Given the description of an element on the screen output the (x, y) to click on. 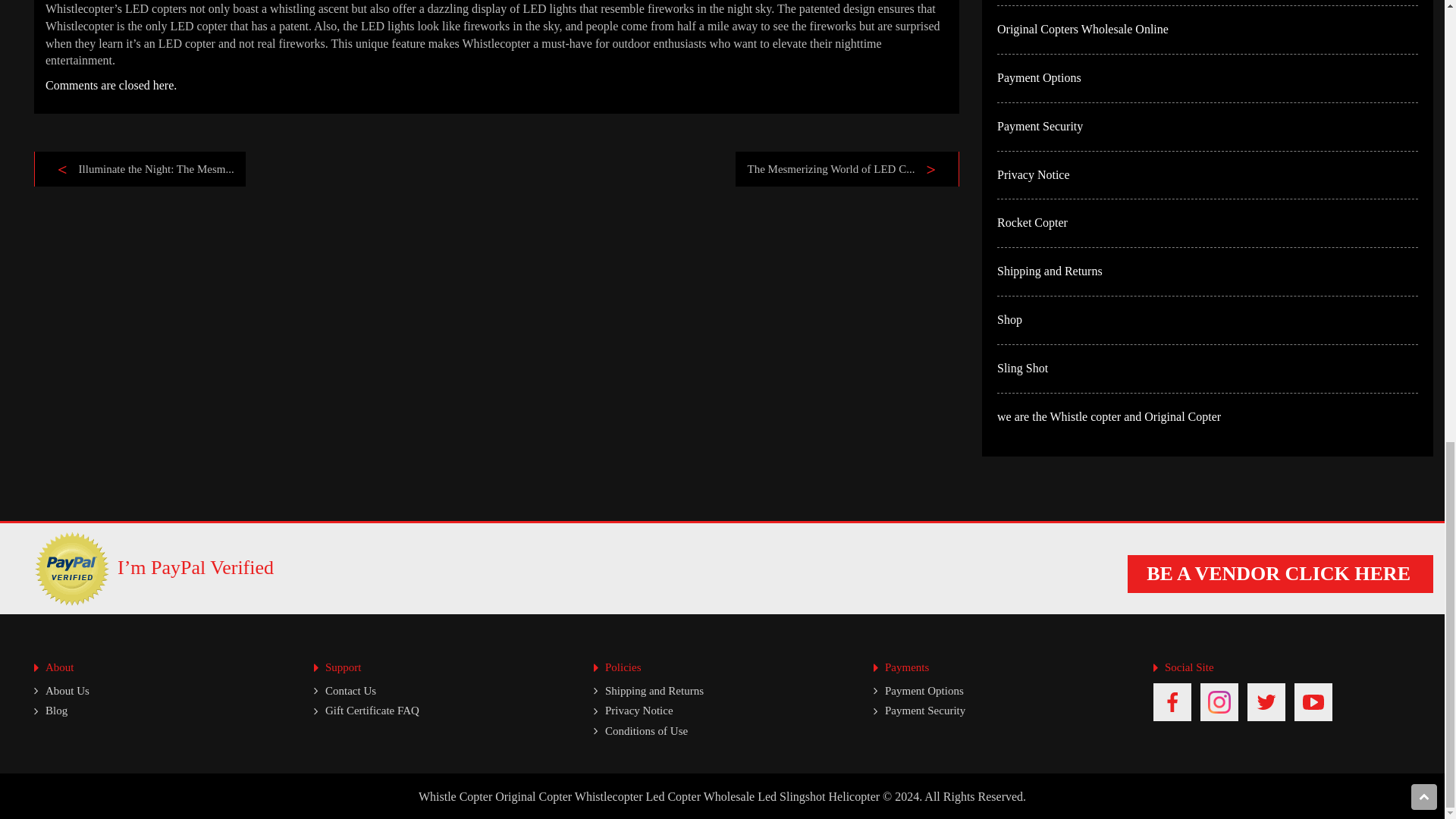
we are the Whistle copter and Original Copter (1109, 416)
Payment Security (1040, 125)
Privacy Notice (1033, 173)
go to top (1423, 796)
Payment Options (1039, 77)
Shipping and Returns (1049, 270)
Offical Whistlecopter twitter (1266, 702)
Offical Whistlecopter youtube (1312, 702)
Offical Whistlecopter facebook (1171, 702)
BE A VENDOR CLICK HERE (1279, 573)
Rocket Copter (1032, 222)
About (59, 666)
offical Whistlecopter instagram (1219, 702)
Sling Shot (1022, 367)
Original Copters Wholesale Online (1083, 29)
